Given the description of an element on the screen output the (x, y) to click on. 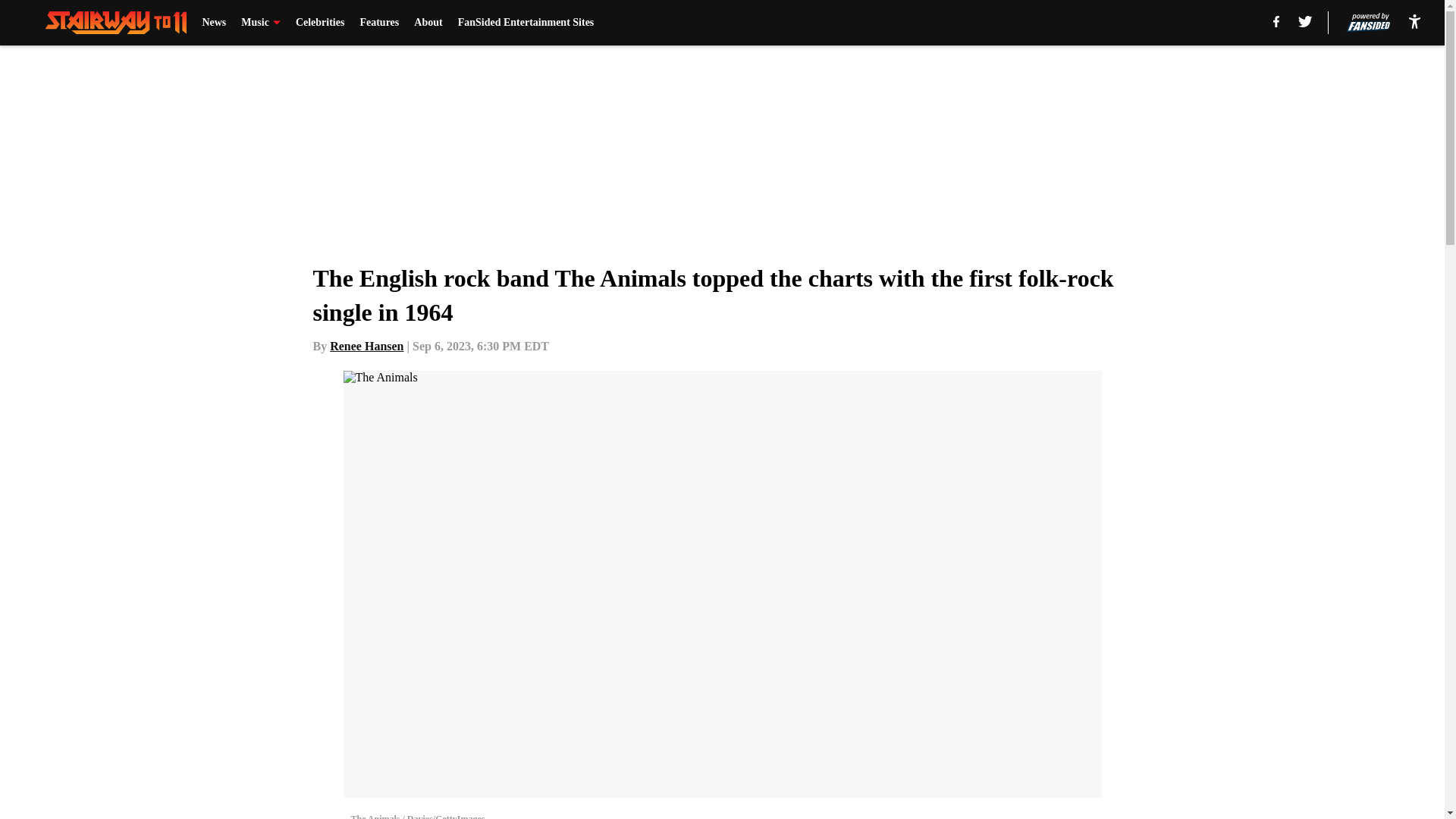
Features (378, 22)
About (427, 22)
News (213, 22)
FanSided Entertainment Sites (526, 22)
Renee Hansen (366, 345)
Celebrities (320, 22)
Music (261, 22)
